Given the description of an element on the screen output the (x, y) to click on. 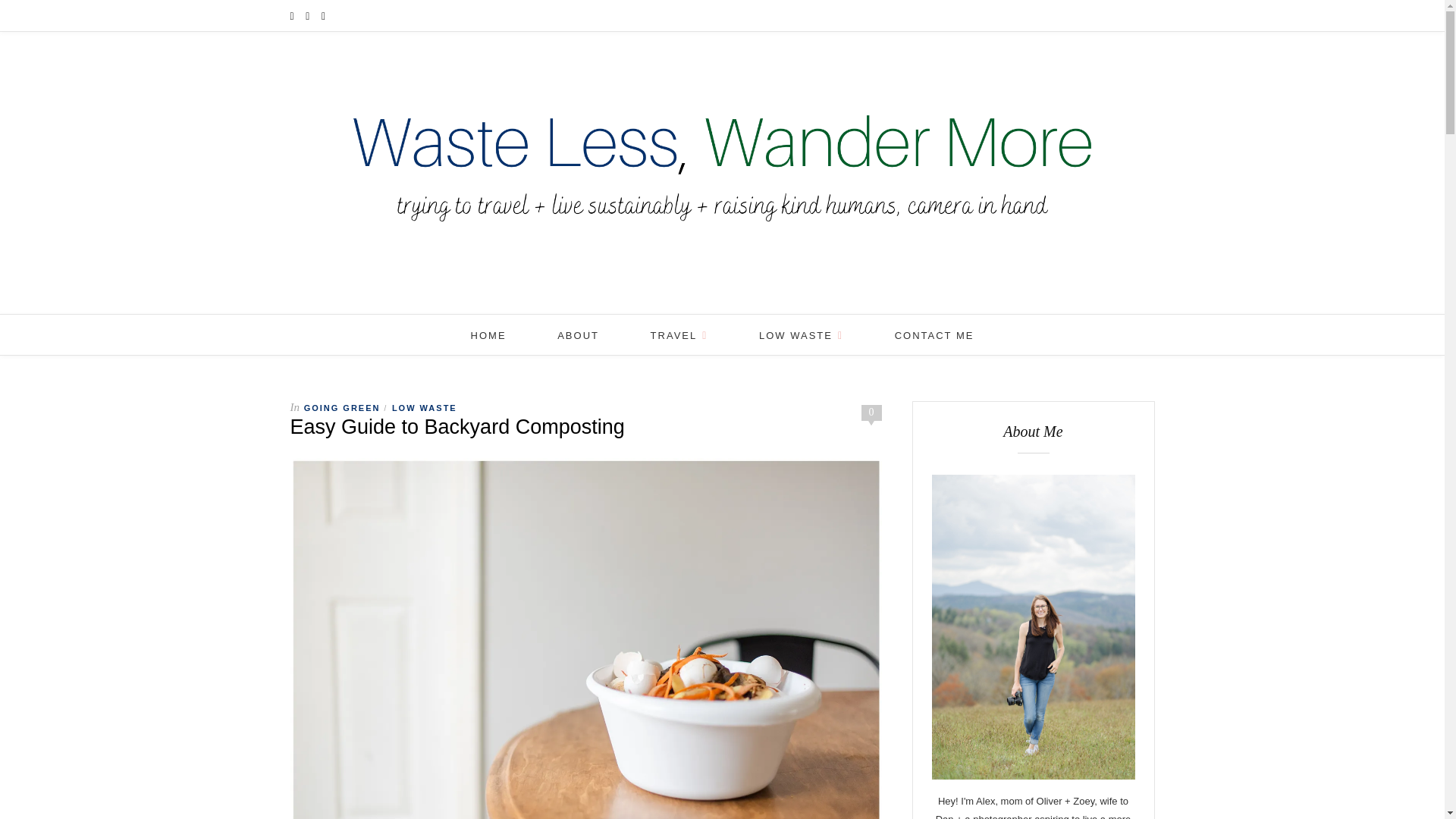
CONTACT ME (934, 335)
0 (872, 411)
GOING GREEN (342, 407)
LOW WASTE (800, 335)
HOME (488, 335)
LOW WASTE (424, 407)
TRAVEL (678, 335)
ABOUT (577, 335)
